Given the description of an element on the screen output the (x, y) to click on. 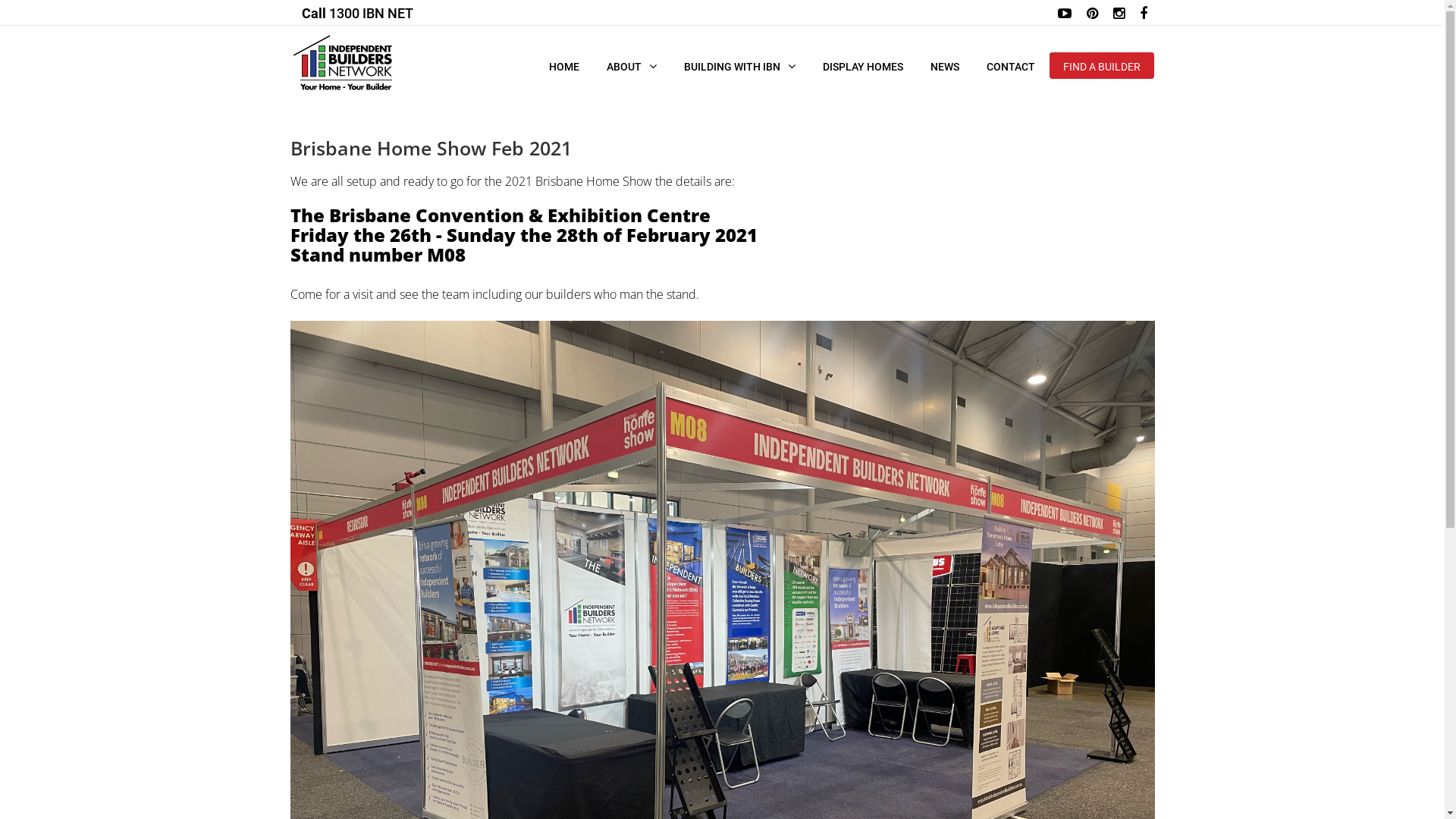
DISPLAY HOMES Element type: text (862, 65)
HOME Element type: text (564, 65)
NEWS Element type: text (944, 65)
ABOUT Element type: text (631, 65)
FIND A BUILDER Element type: text (1101, 65)
BUILDING WITH IBN Element type: text (739, 65)
Call 1300 IBN NET Element type: text (360, 12)
CONTACT Element type: text (1010, 65)
Brisbane Home Show Feb 2021 Element type: text (430, 147)
